Given the description of an element on the screen output the (x, y) to click on. 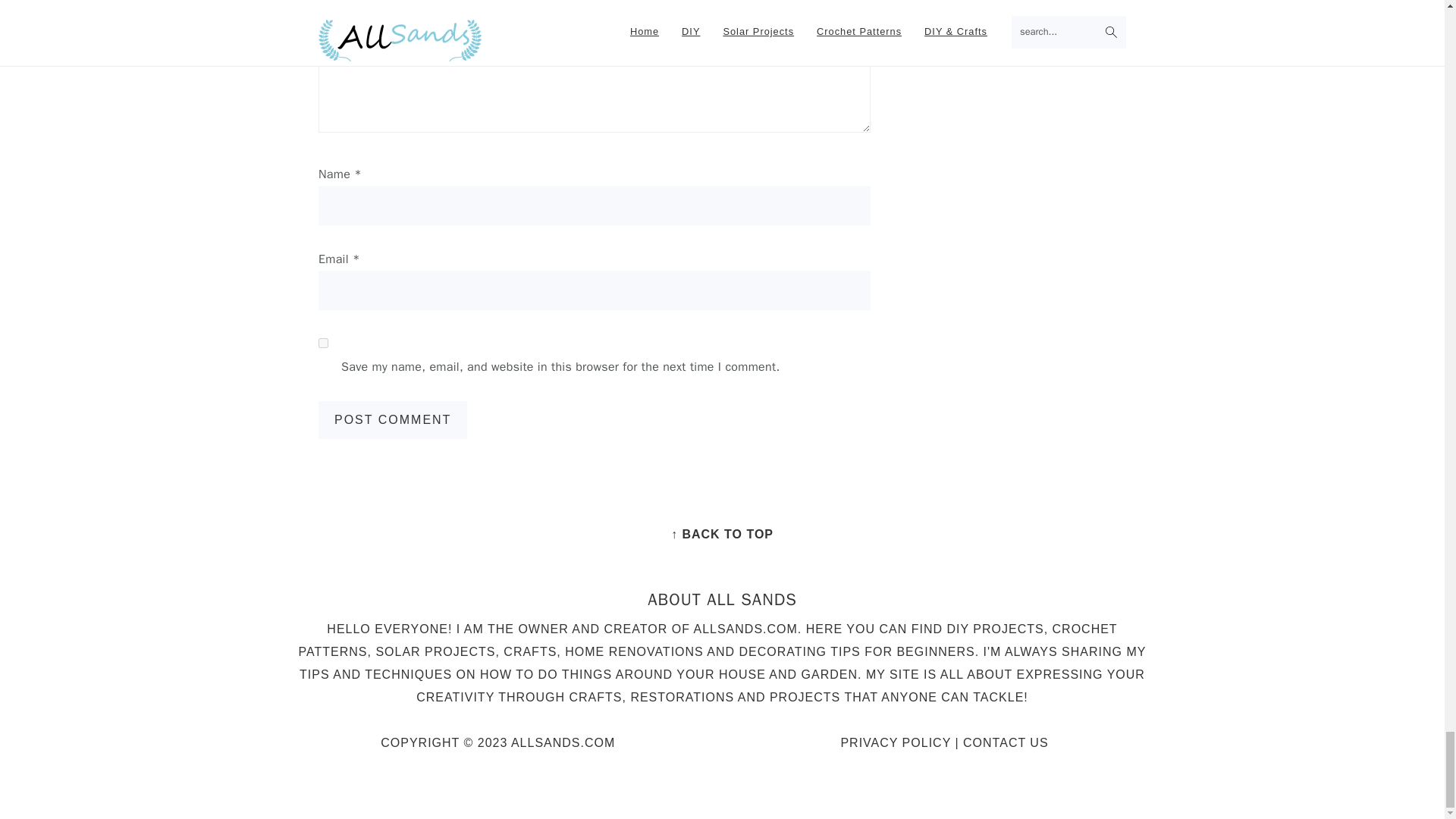
Post Comment (392, 419)
PRIVACY POLICY (895, 742)
yes (323, 343)
Post Comment (392, 419)
